Given the description of an element on the screen output the (x, y) to click on. 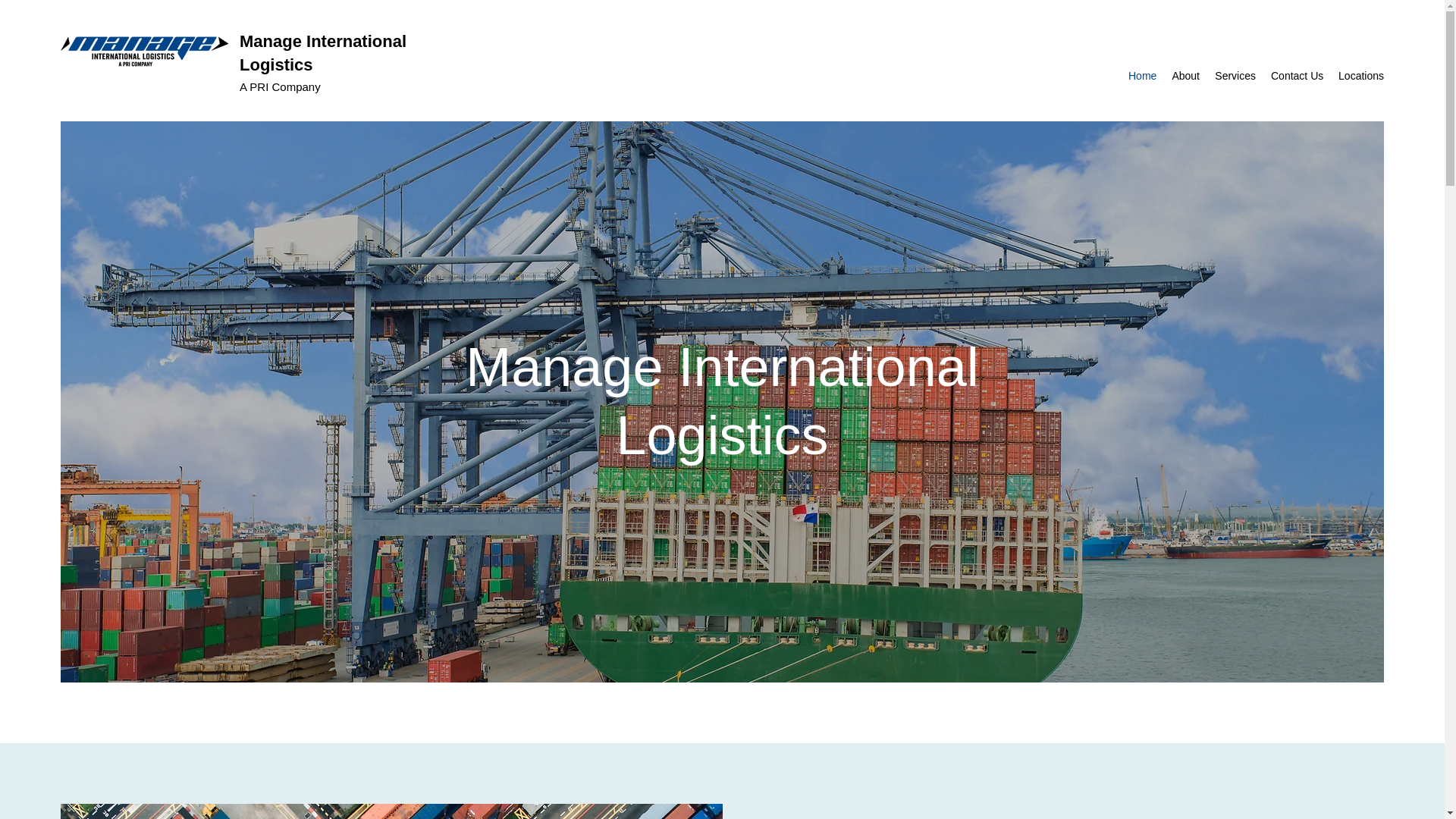
Locations (1360, 75)
Manage International Logistics (323, 52)
Contact Us (1296, 75)
A PRI Company (280, 86)
Home (1142, 75)
About (1185, 75)
Services (1235, 75)
